Given the description of an element on the screen output the (x, y) to click on. 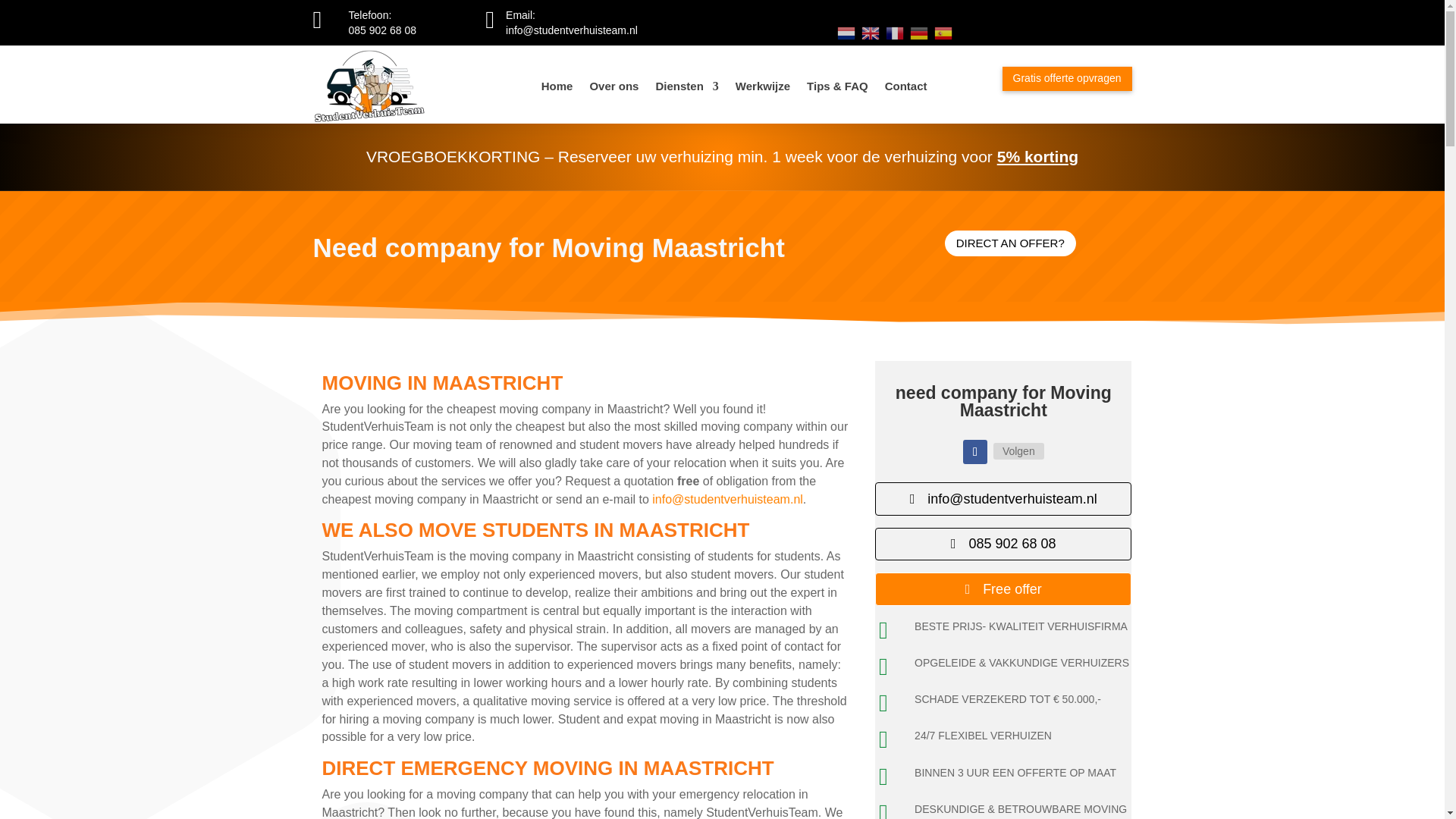
Deutsch (919, 32)
English (870, 32)
Facebook (1017, 451)
DIRECT AN OFFER? (1009, 243)
Gratis offerte opvragen (1067, 78)
Volgknop (974, 451)
Nederlands (846, 32)
